Given the description of an element on the screen output the (x, y) to click on. 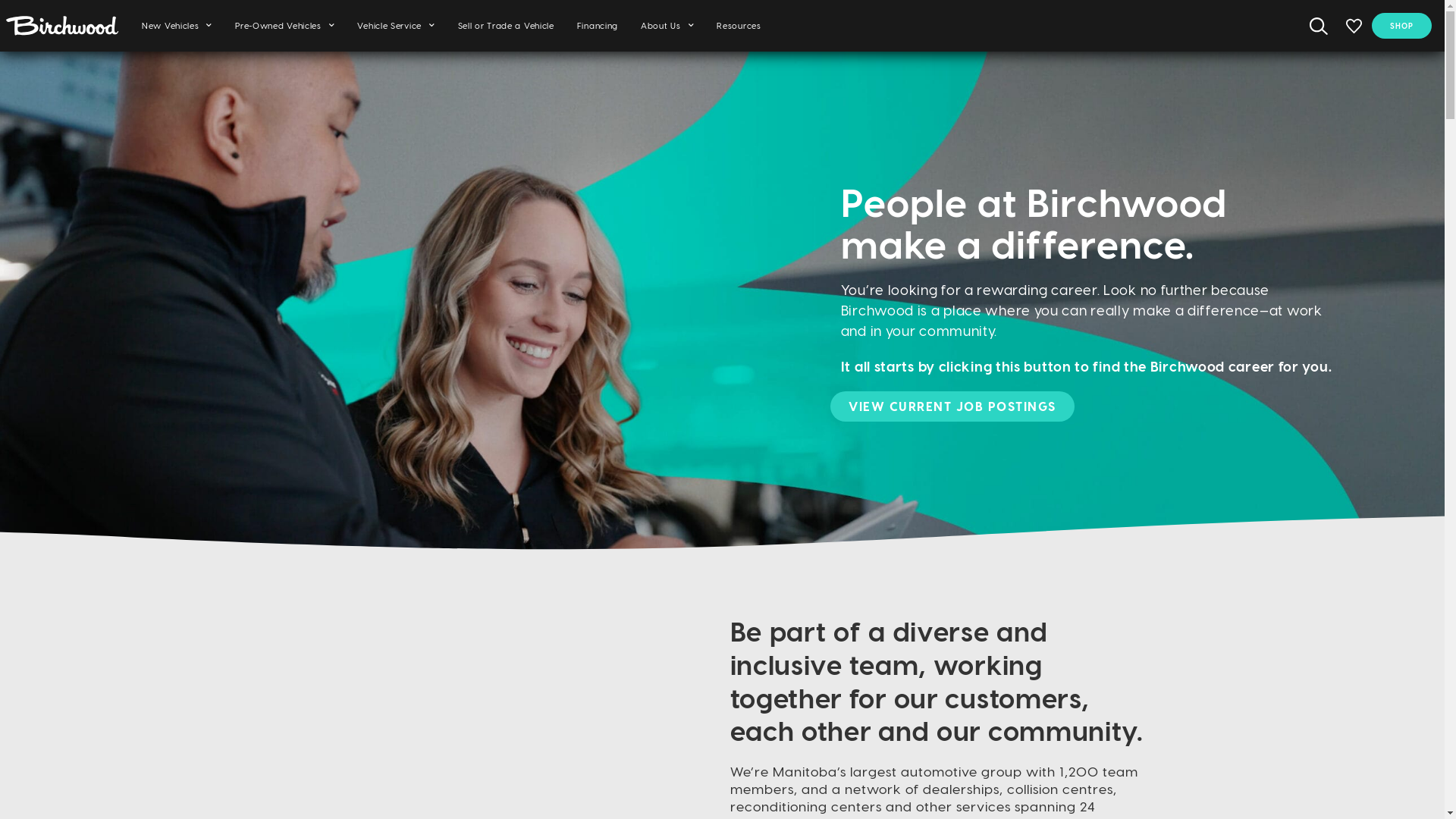
About Us Element type: text (667, 25)
SHOP Element type: text (1401, 25)
Resources Element type: text (738, 25)
Vehicle Service Element type: text (395, 25)
Birchwood-Logo-White.svg Element type: hover (62, 25)
Sell or Trade a Vehicle Element type: text (505, 25)
My Vehicles Element type: text (1353, 25)
Financing Element type: text (597, 25)
VIEW CURRENT JOB POSTINGS Element type: text (952, 406)
Pre-Owned Vehicles Element type: text (284, 25)
New Vehicles Element type: text (176, 25)
